Given the description of an element on the screen output the (x, y) to click on. 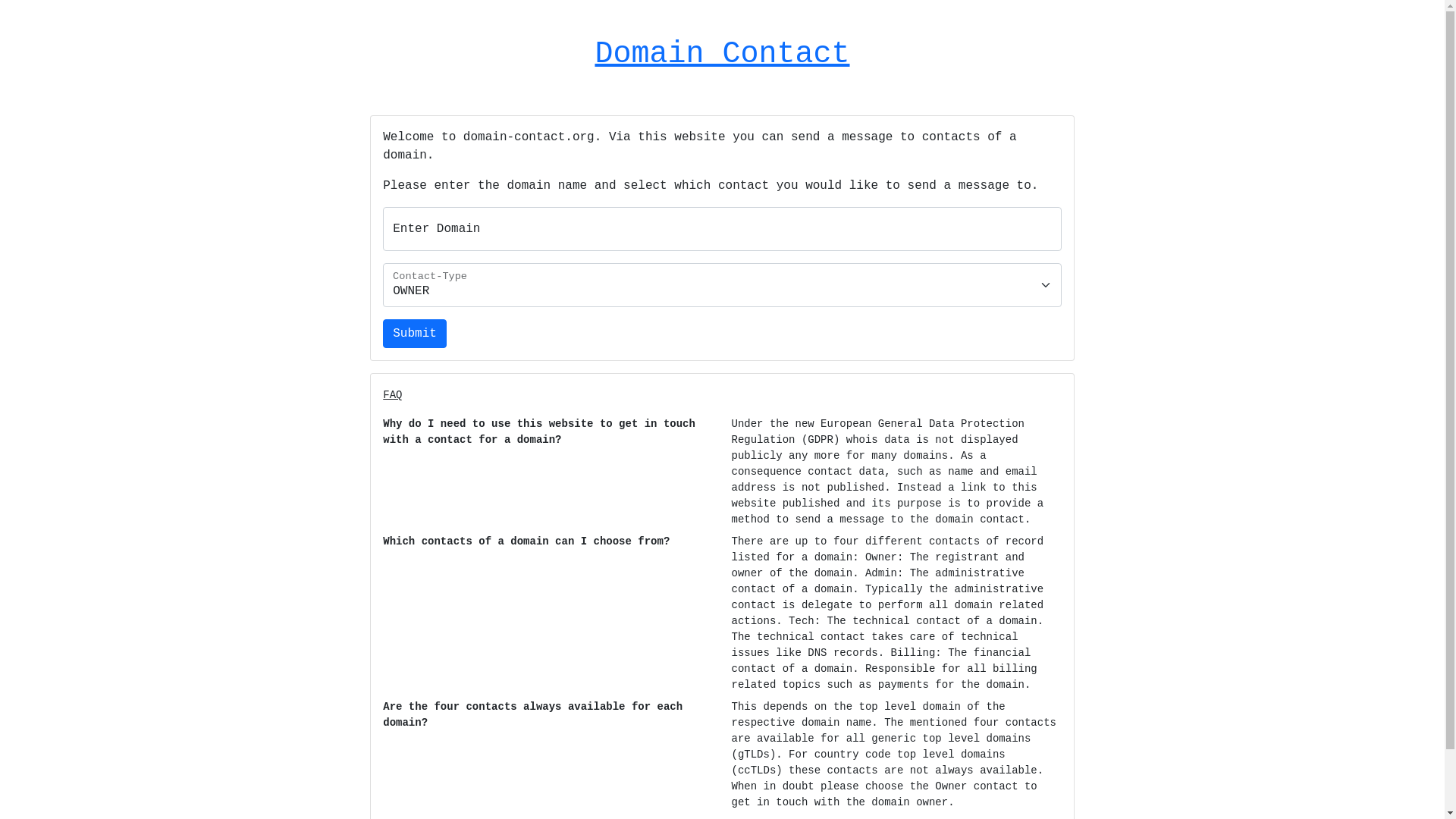
Submit Element type: text (414, 333)
Domain Contact Element type: text (721, 54)
